Given the description of an element on the screen output the (x, y) to click on. 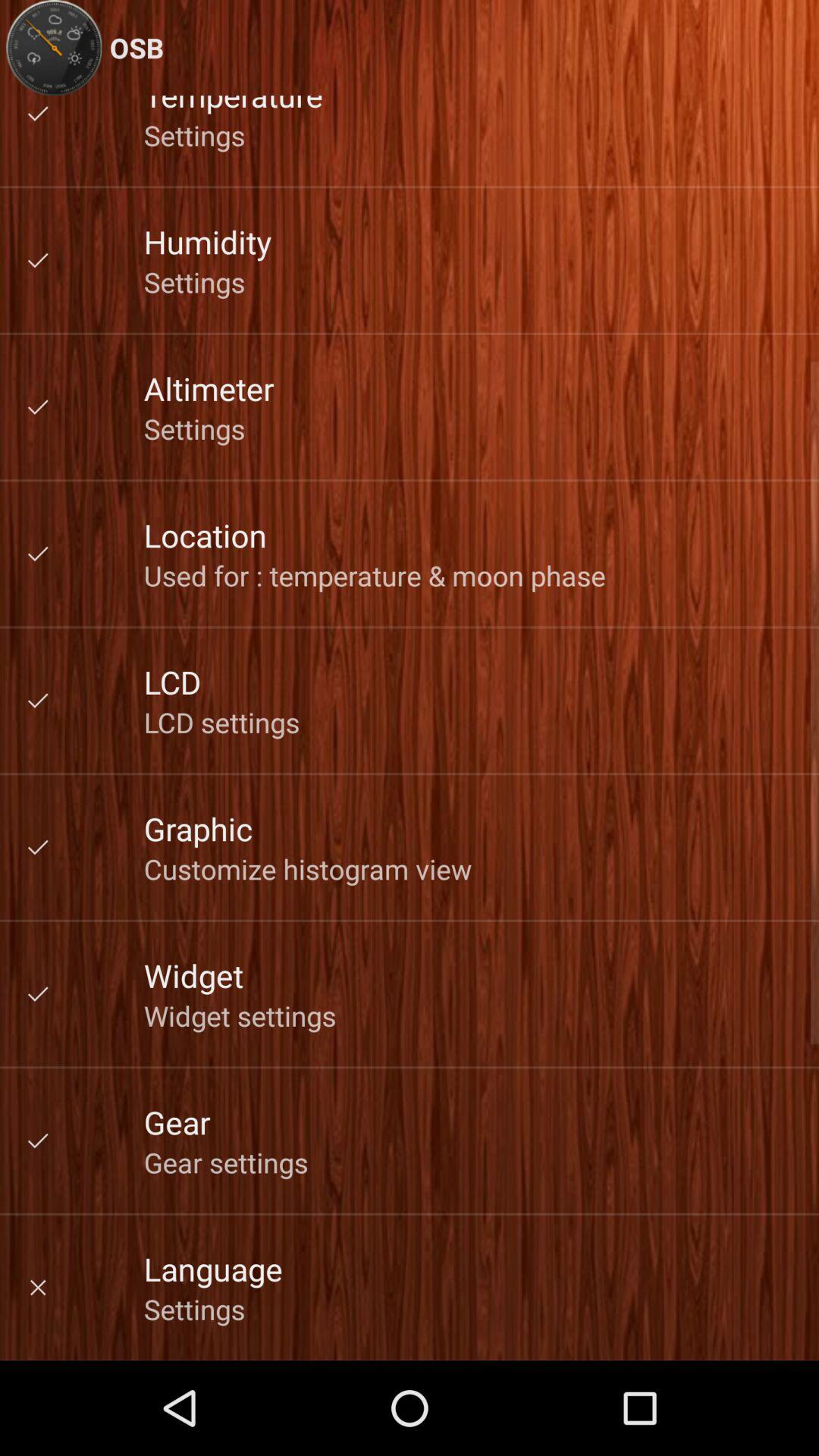
swipe to language (212, 1268)
